Given the description of an element on the screen output the (x, y) to click on. 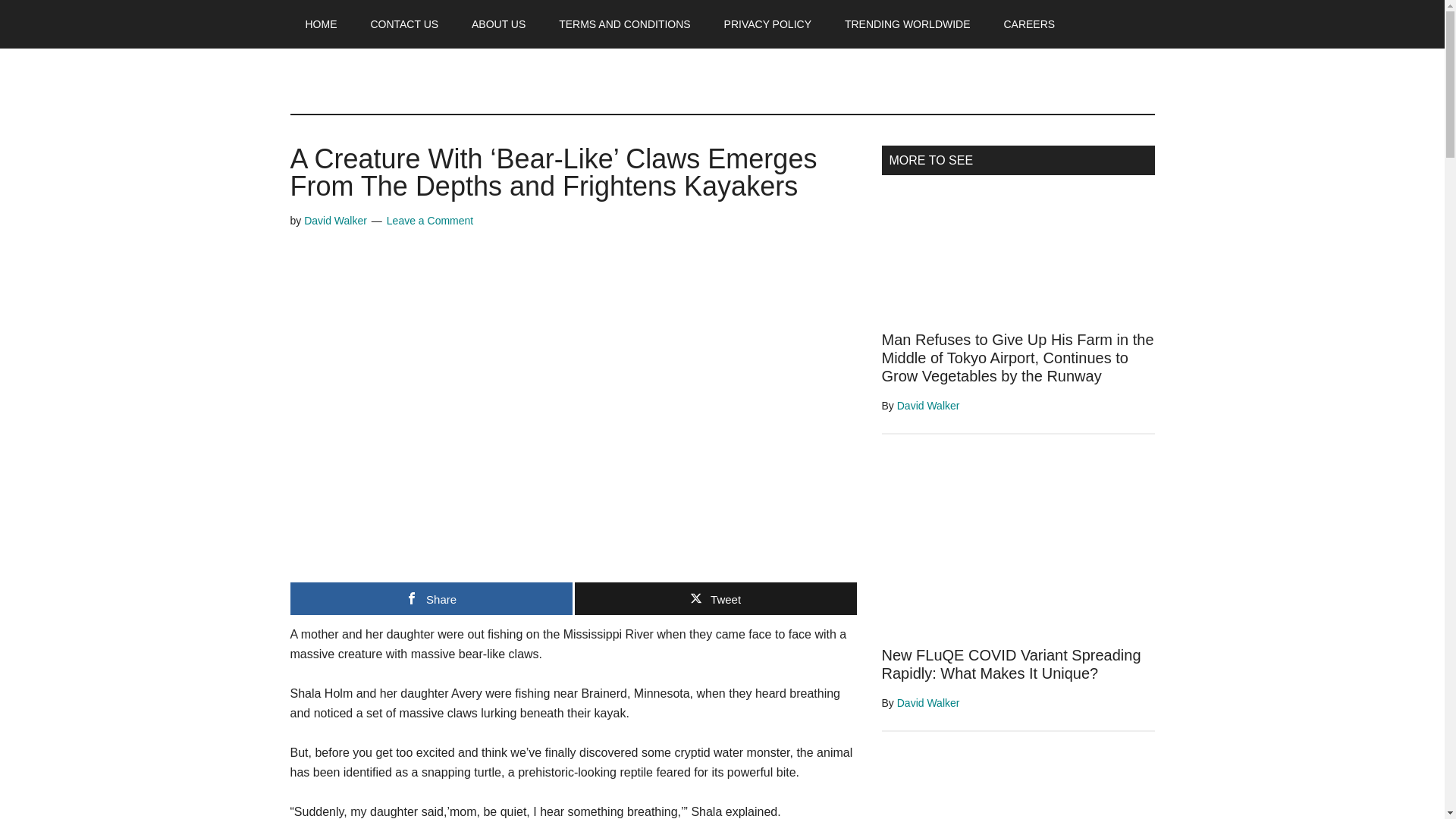
ABOUT US (498, 24)
TERMS AND CONDITIONS (623, 24)
David Walker (927, 405)
David Walker (927, 702)
David Walker (335, 220)
Leave a Comment (430, 220)
Share (430, 598)
Tweet (716, 598)
HOME (320, 24)
PRIVACY POLICY (768, 24)
CONTACT US (403, 24)
TRENDING WORLDWIDE (907, 24)
CAREERS (1029, 24)
